Given the description of an element on the screen output the (x, y) to click on. 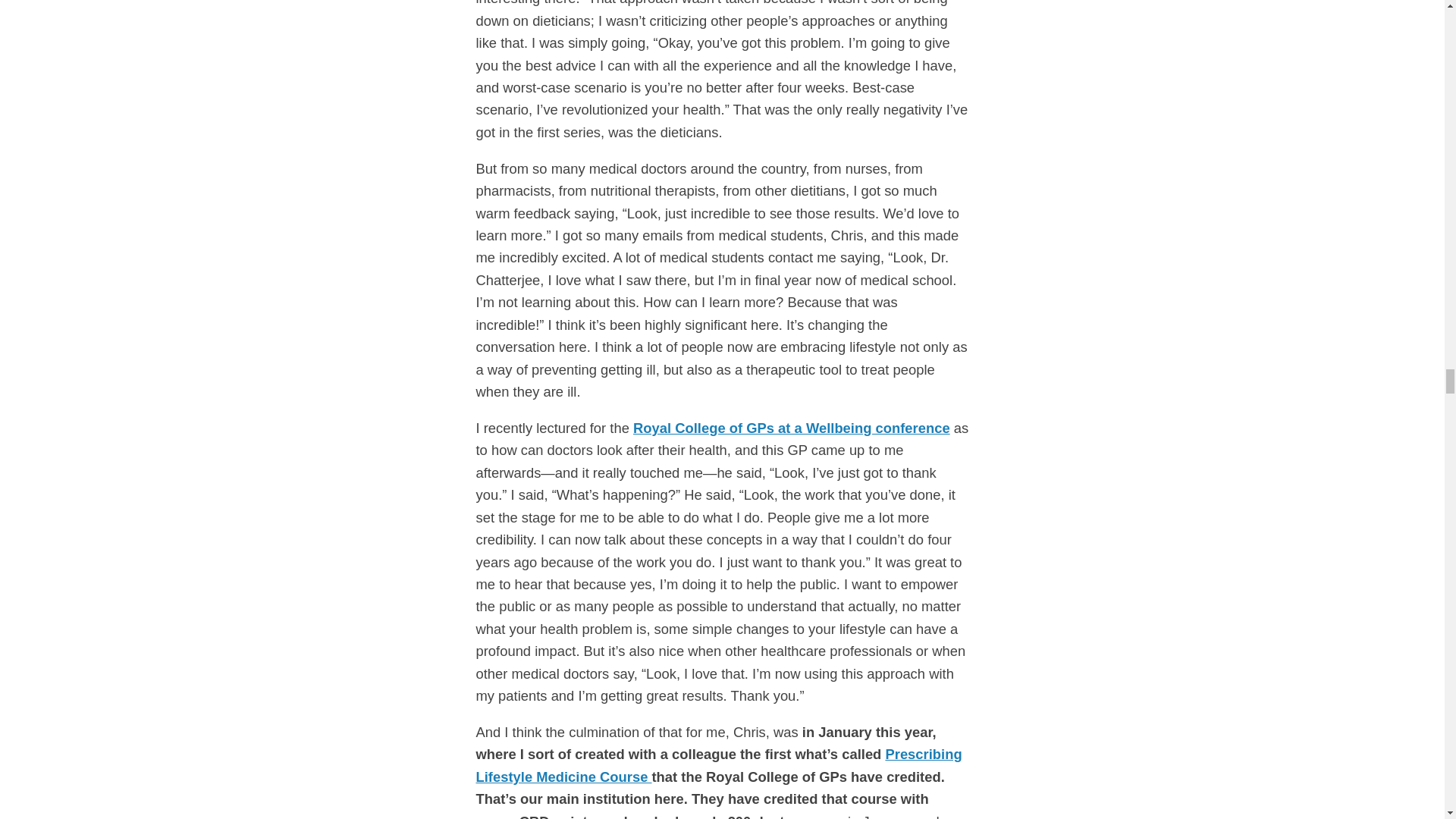
Royal College of GPs at a Wellbeing conference (791, 427)
